Given the description of an element on the screen output the (x, y) to click on. 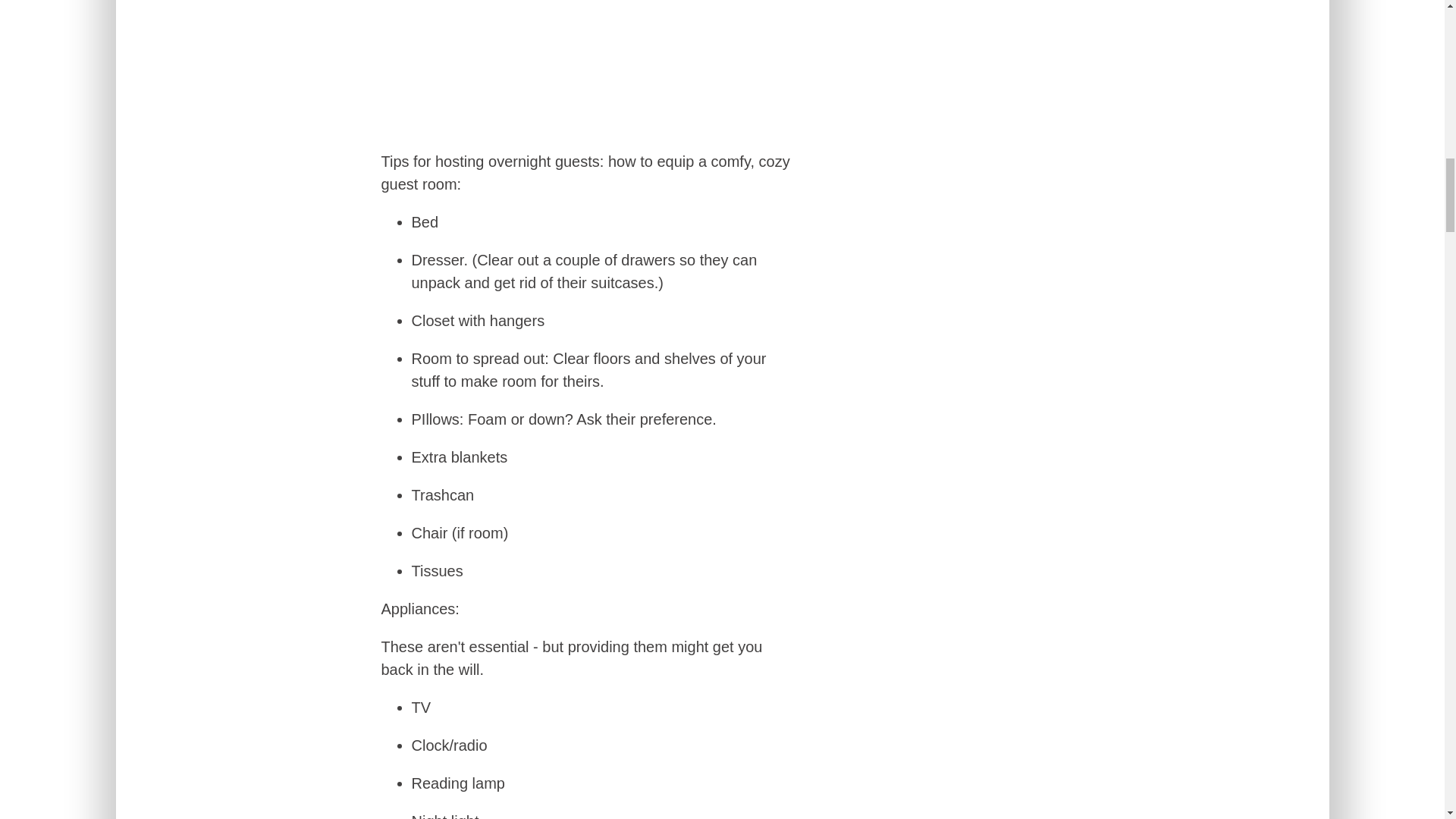
Bed with a hat. (589, 65)
Go to Cozy Guest Bedroom Ideas  (589, 126)
